Given the description of an element on the screen output the (x, y) to click on. 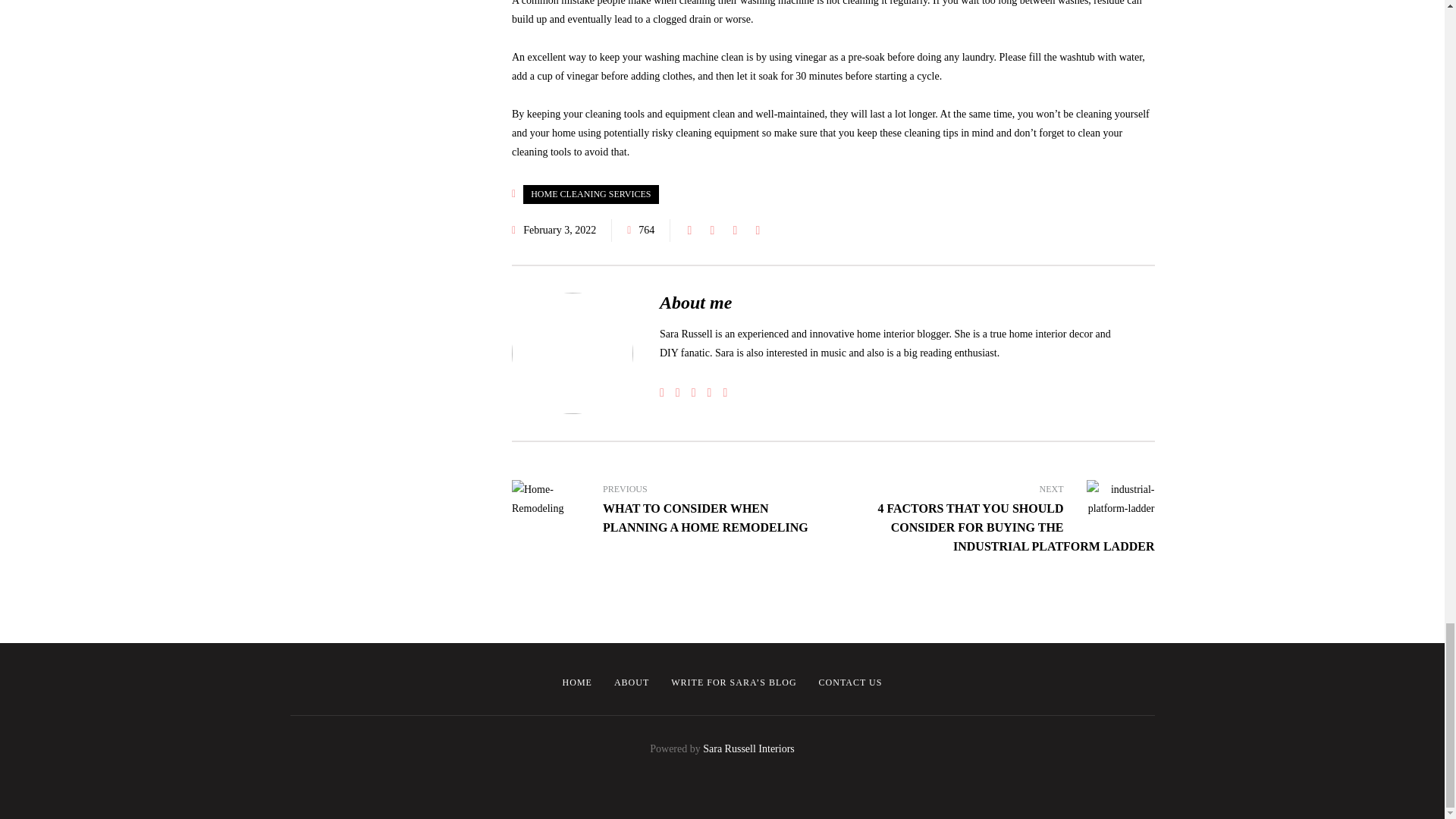
HOME CLEANING SERVICES (590, 194)
Share this (689, 230)
Tweet this (711, 230)
Share with Google Plus (734, 230)
Post views (640, 230)
Pin this (756, 230)
